Given the description of an element on the screen output the (x, y) to click on. 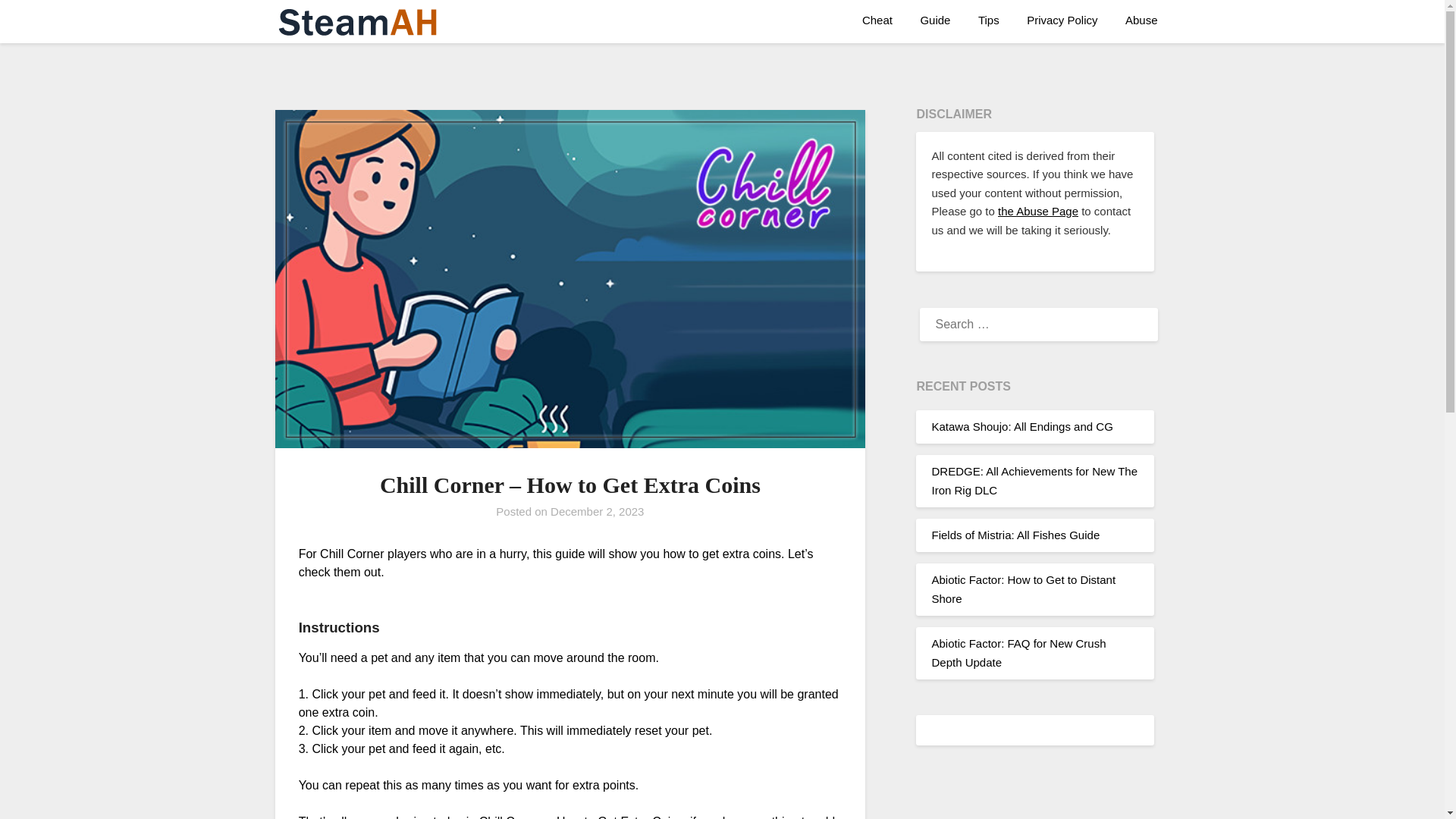
Katawa Shoujo: All Endings and CG (1021, 426)
DREDGE: All Achievements for New The Iron Rig DLC (1034, 480)
Privacy Policy (1061, 20)
Guide (934, 20)
Fields of Mistria: All Fishes Guide (1015, 534)
Search (38, 22)
Tips (988, 20)
Cheat (877, 20)
Abiotic Factor: How to Get to Distant Shore (1023, 588)
Abiotic Factor: FAQ for New Crush Depth Update (1018, 652)
